Given the description of an element on the screen output the (x, y) to click on. 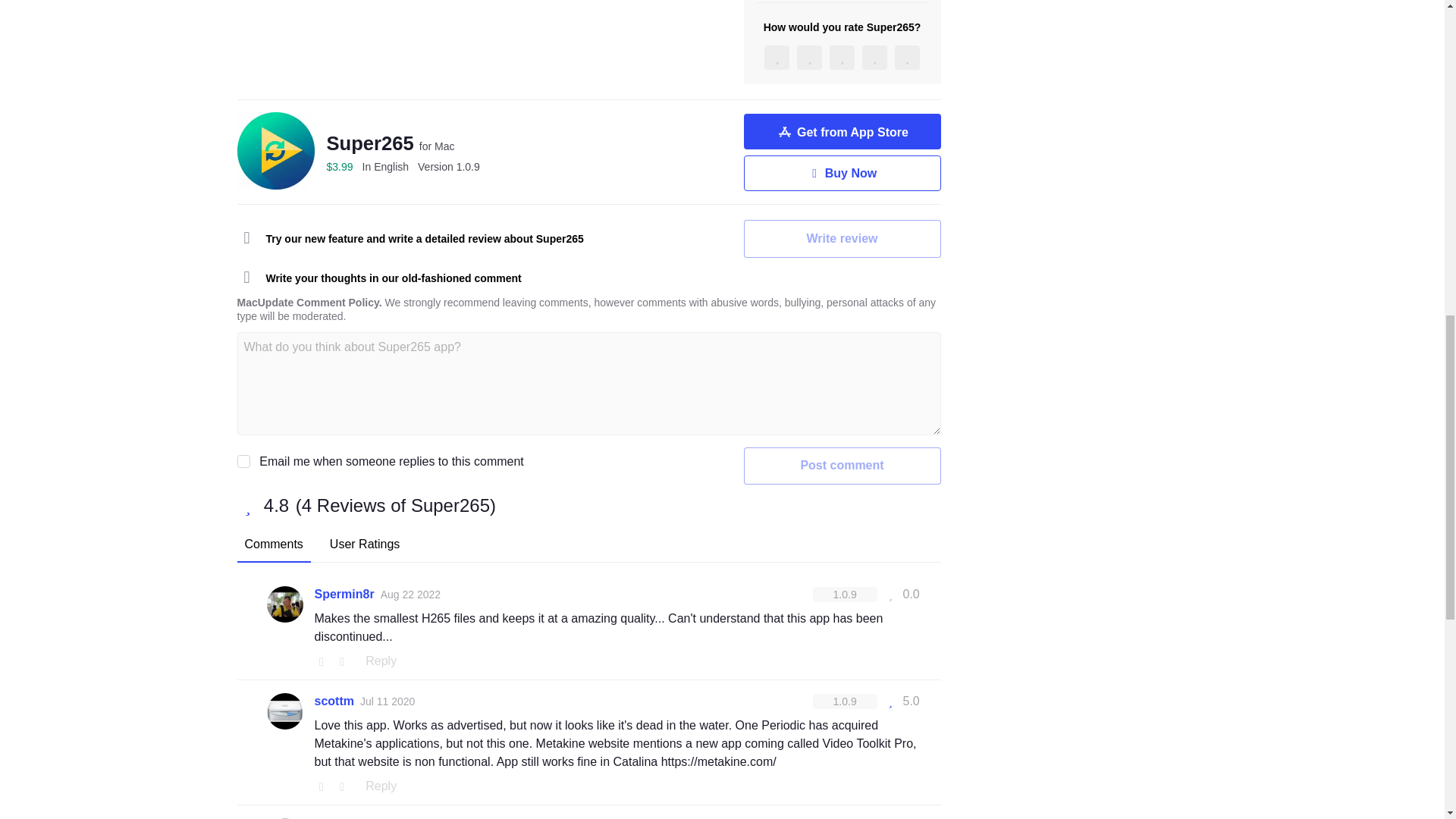
Spermin8r (344, 594)
Version: 1.0.9 (844, 701)
1.0.9 (448, 166)
Version: 1.0.9 (844, 594)
scottm (333, 701)
StrictlyBagel (351, 818)
